Given the description of an element on the screen output the (x, y) to click on. 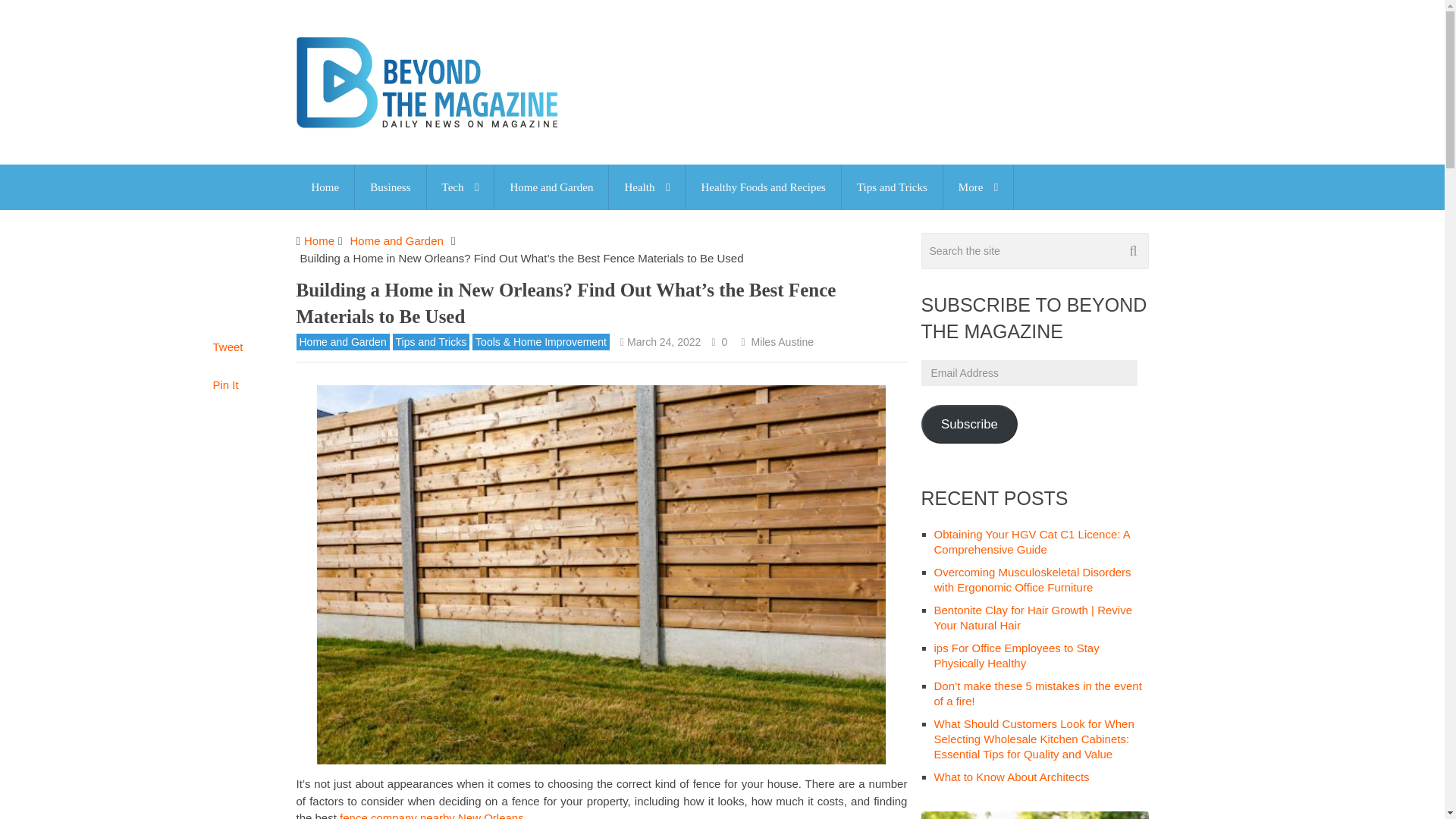
More (978, 186)
Posts by Miles Austine (781, 341)
Health (646, 186)
Home and Garden (551, 186)
Healthy Foods and Recipes (763, 186)
Business (390, 186)
Tips and Tricks (891, 186)
Home (324, 186)
View all posts in Tips and Tricks (431, 341)
Tech (460, 186)
View all posts in Home and Garden (341, 341)
